Given the description of an element on the screen output the (x, y) to click on. 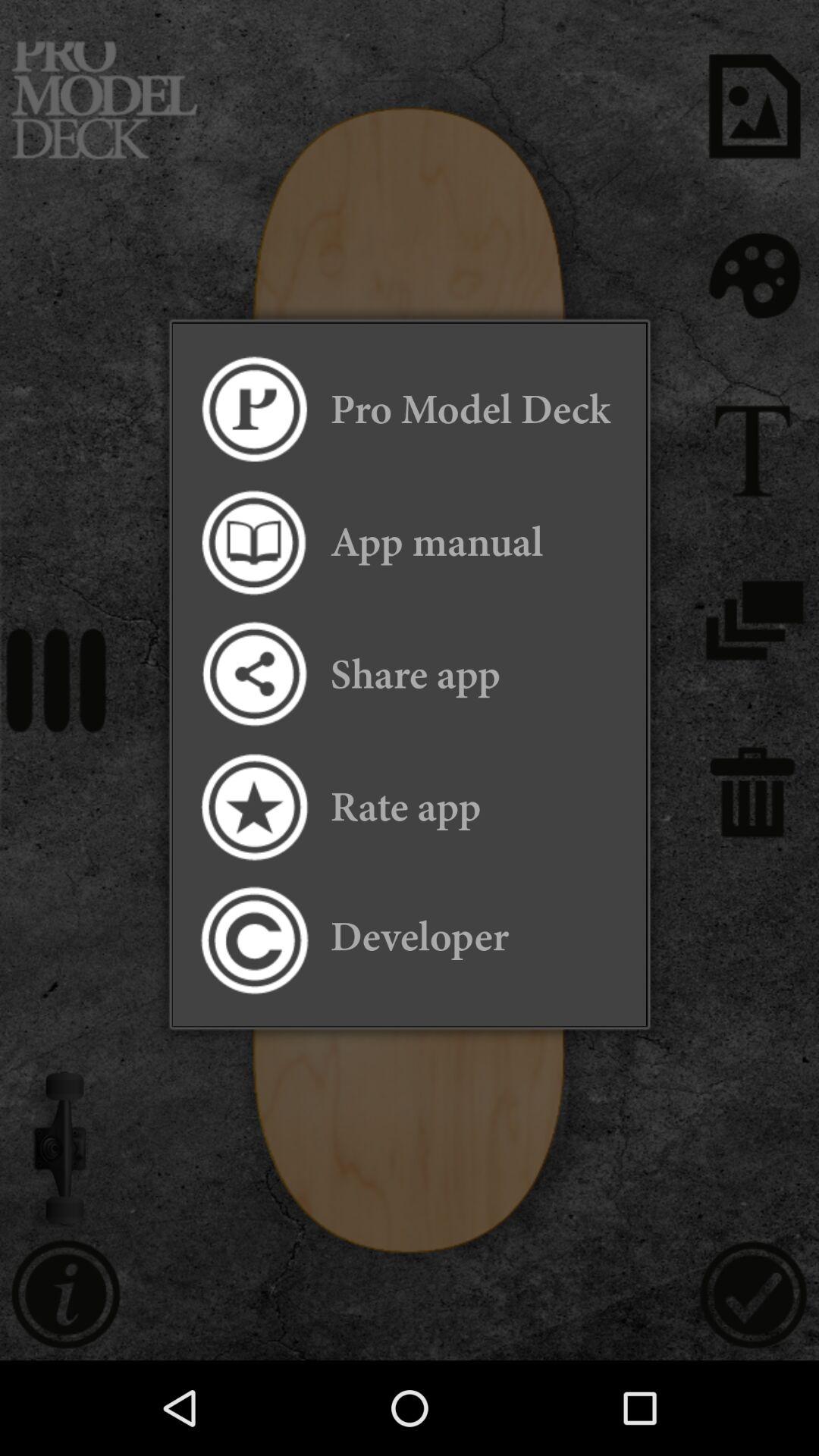
turn off app to the left of rate app item (253, 807)
